Given the description of an element on the screen output the (x, y) to click on. 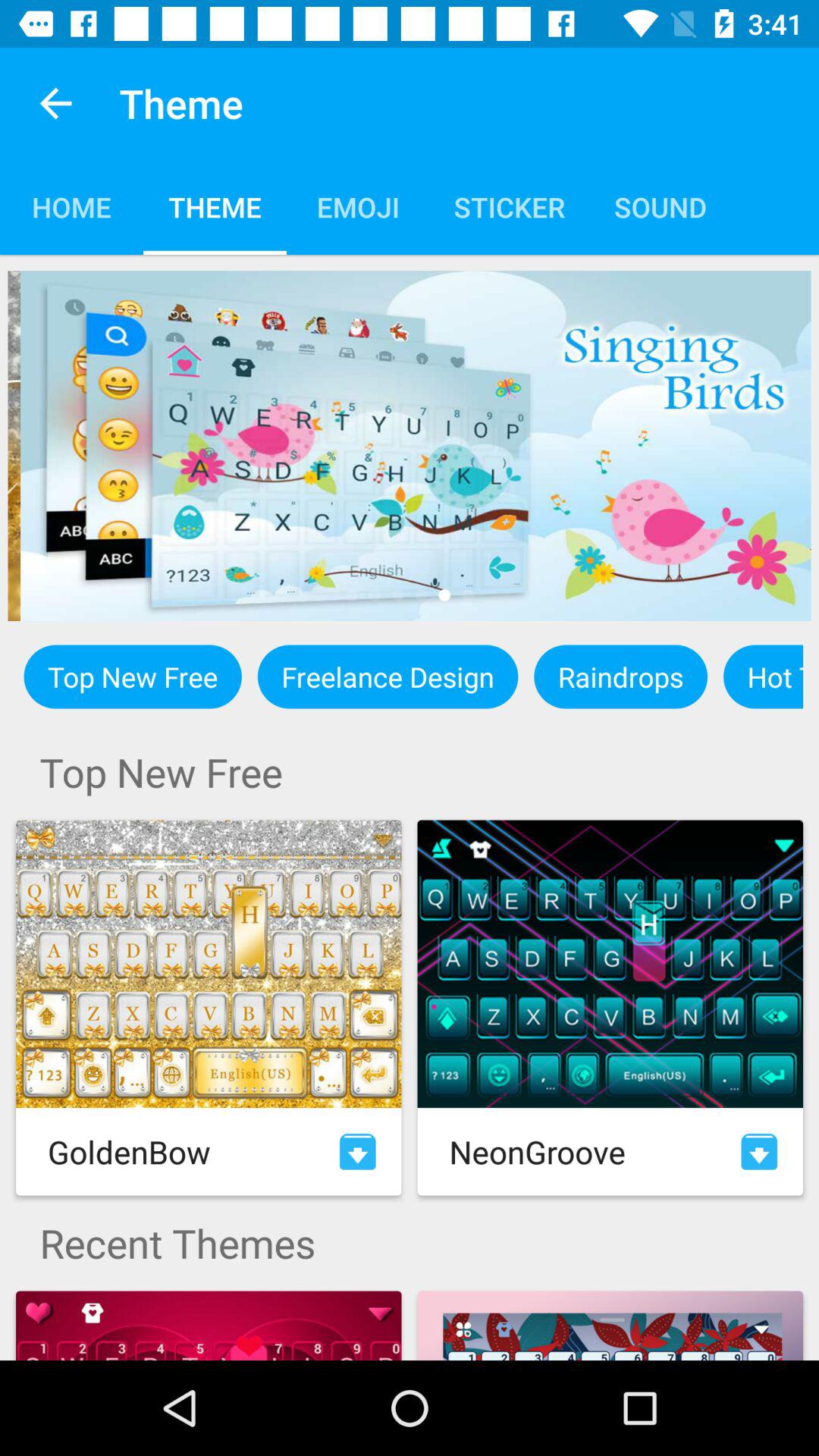
click app next to theme app (55, 103)
